Given the description of an element on the screen output the (x, y) to click on. 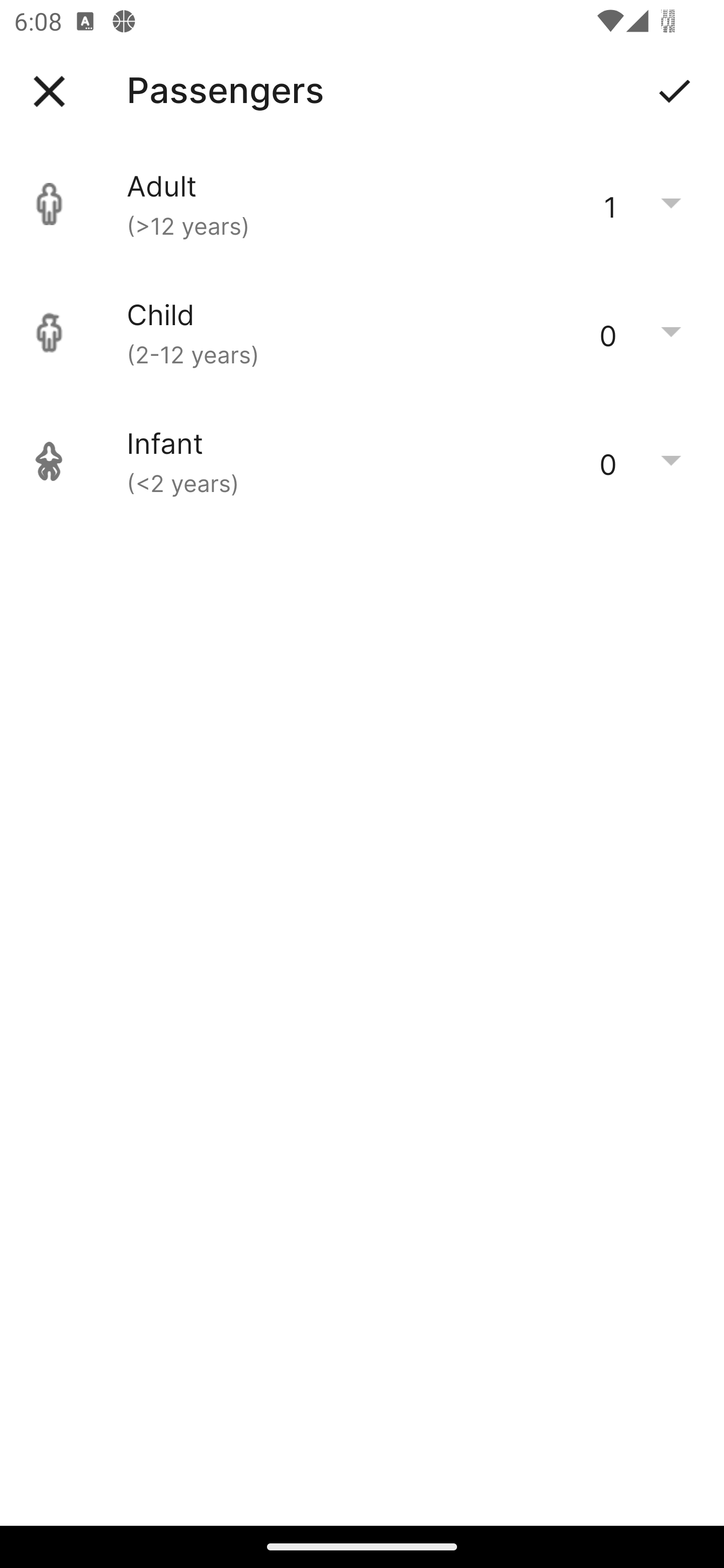
Adult (>12 years) 1 (362, 204)
Child (2-12 years) 0 (362, 332)
Infant (<2 years) 0 (362, 461)
